Given the description of an element on the screen output the (x, y) to click on. 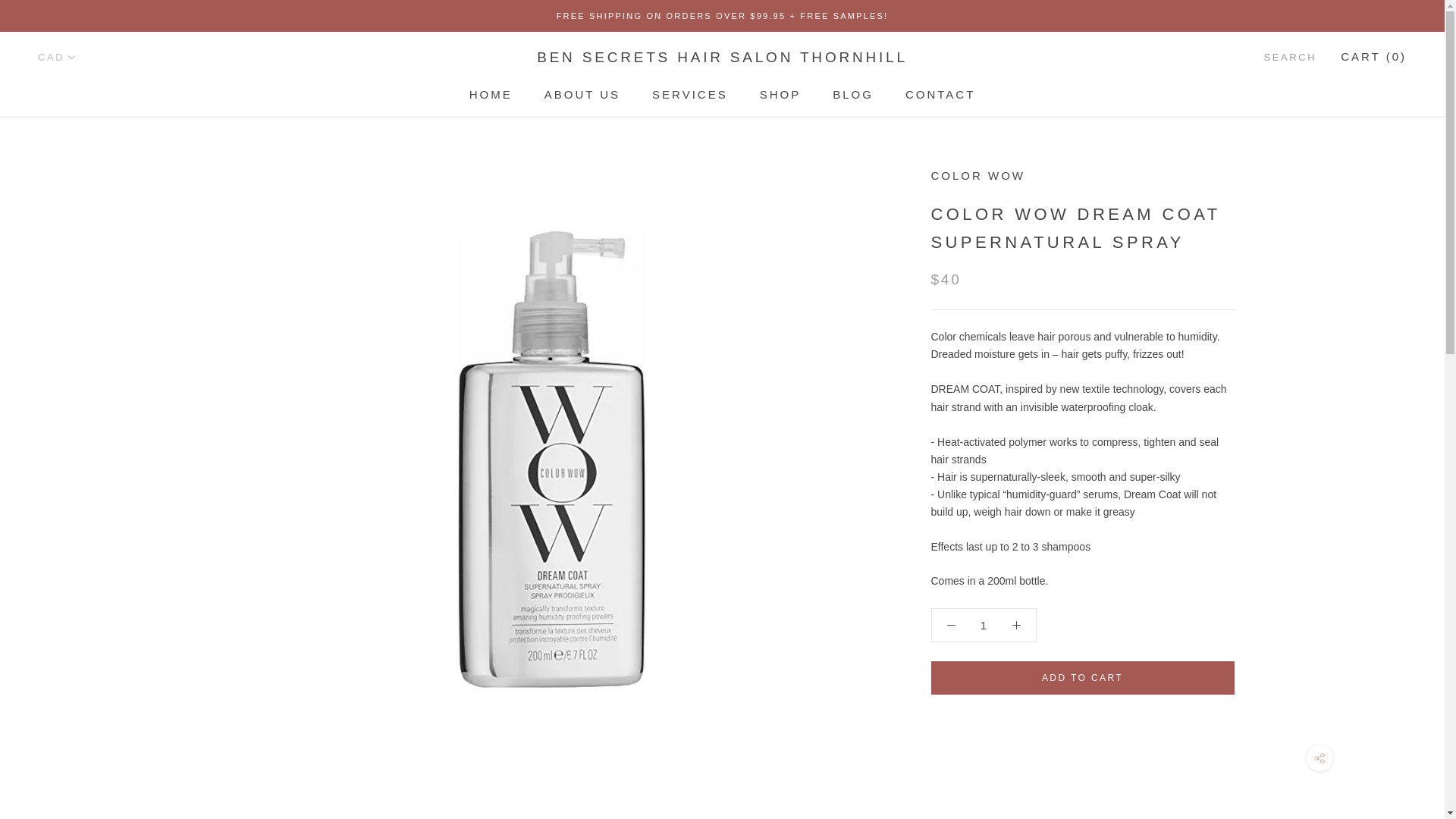
BEN SECRETS HAIR SALON THORNHILL (722, 56)
BLOG (852, 93)
ADD TO CART (940, 93)
SERVICES (1082, 677)
Currency selector (690, 93)
1 (57, 57)
